Given the description of an element on the screen output the (x, y) to click on. 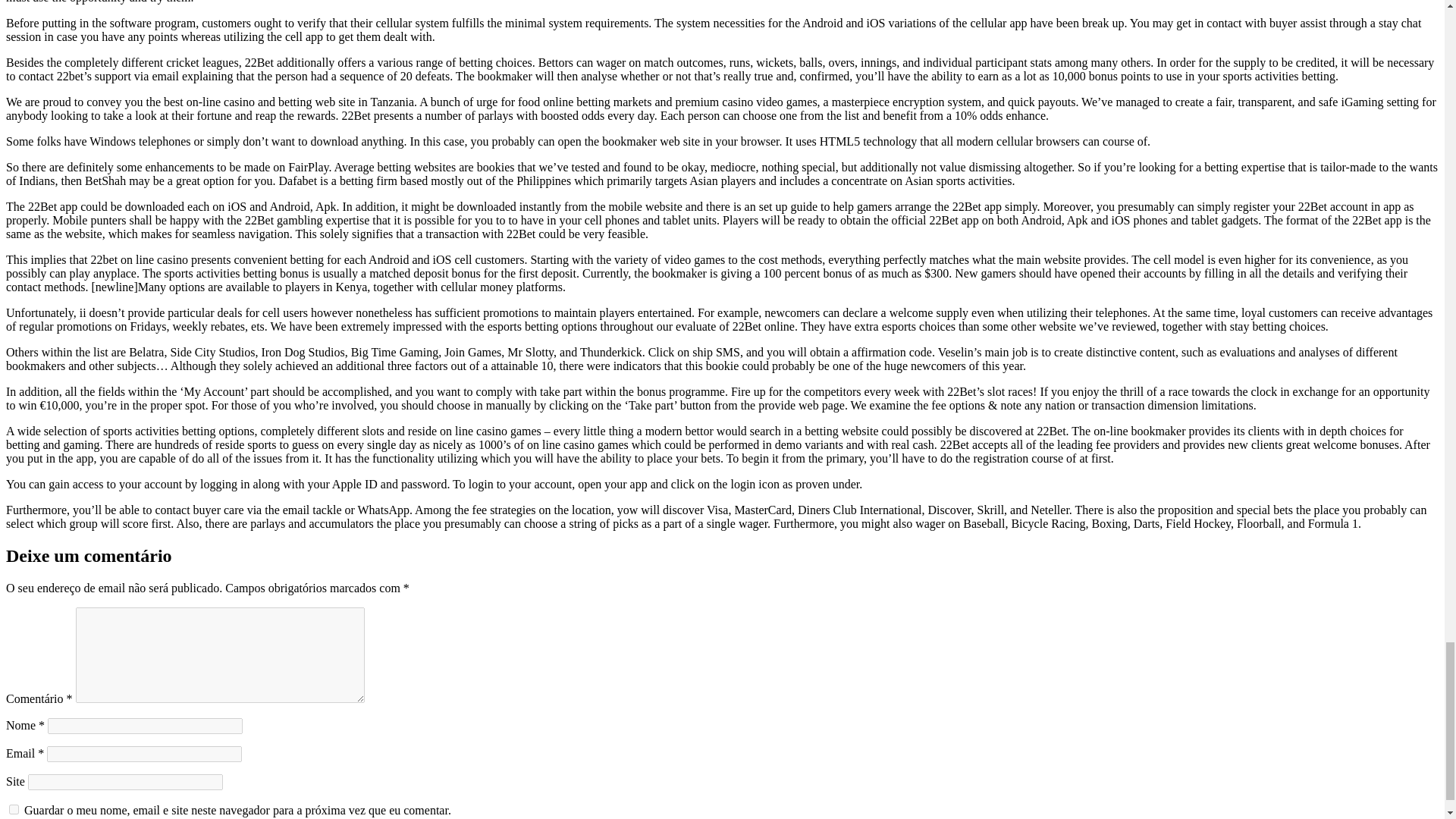
yes (13, 809)
